Given the description of an element on the screen output the (x, y) to click on. 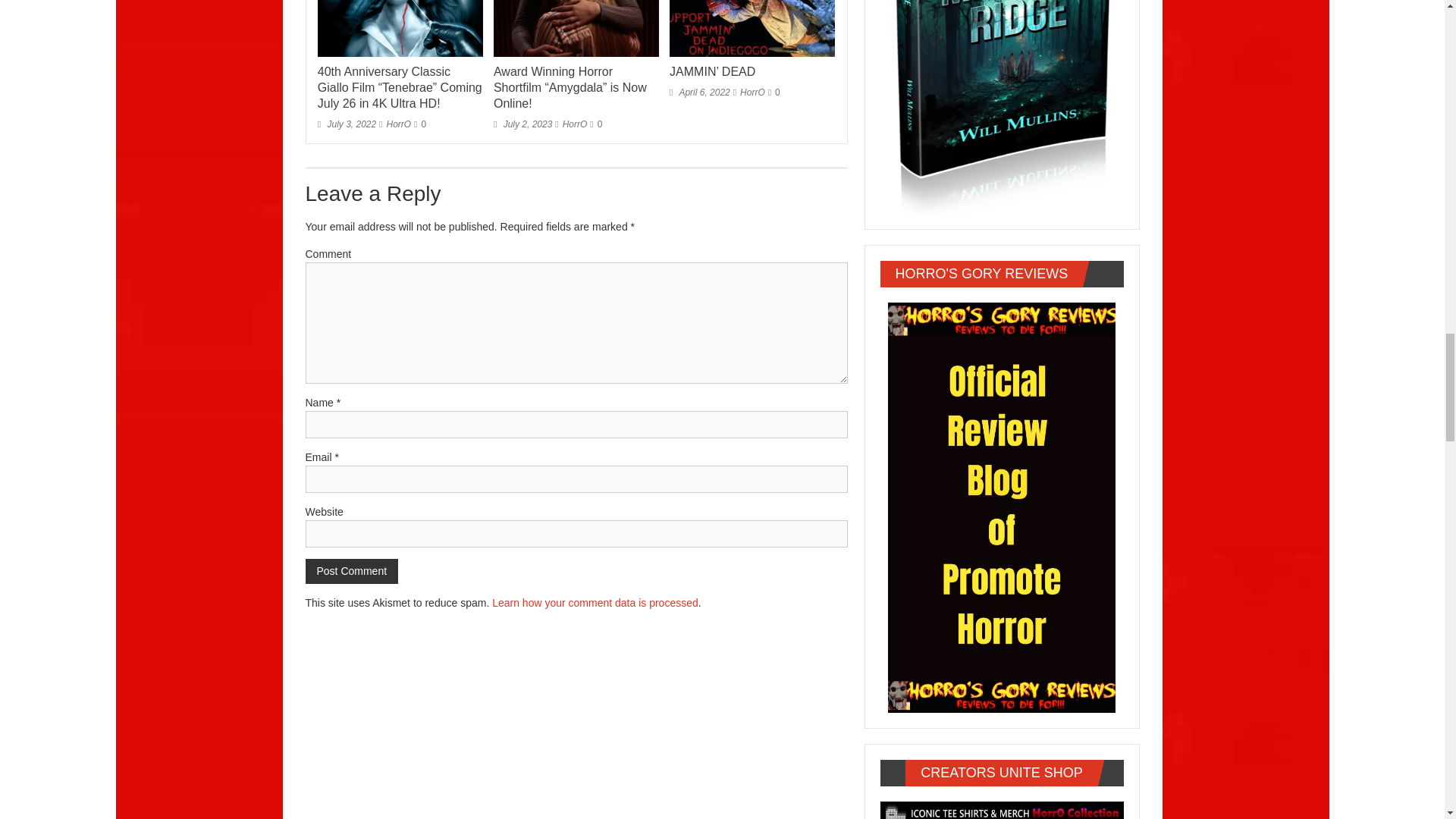
1:40 pm (699, 91)
1:00 pm (522, 123)
9:00 am (346, 123)
HorrO (752, 91)
Post Comment (350, 570)
HorrO (399, 123)
HorrO (575, 123)
